Given the description of an element on the screen output the (x, y) to click on. 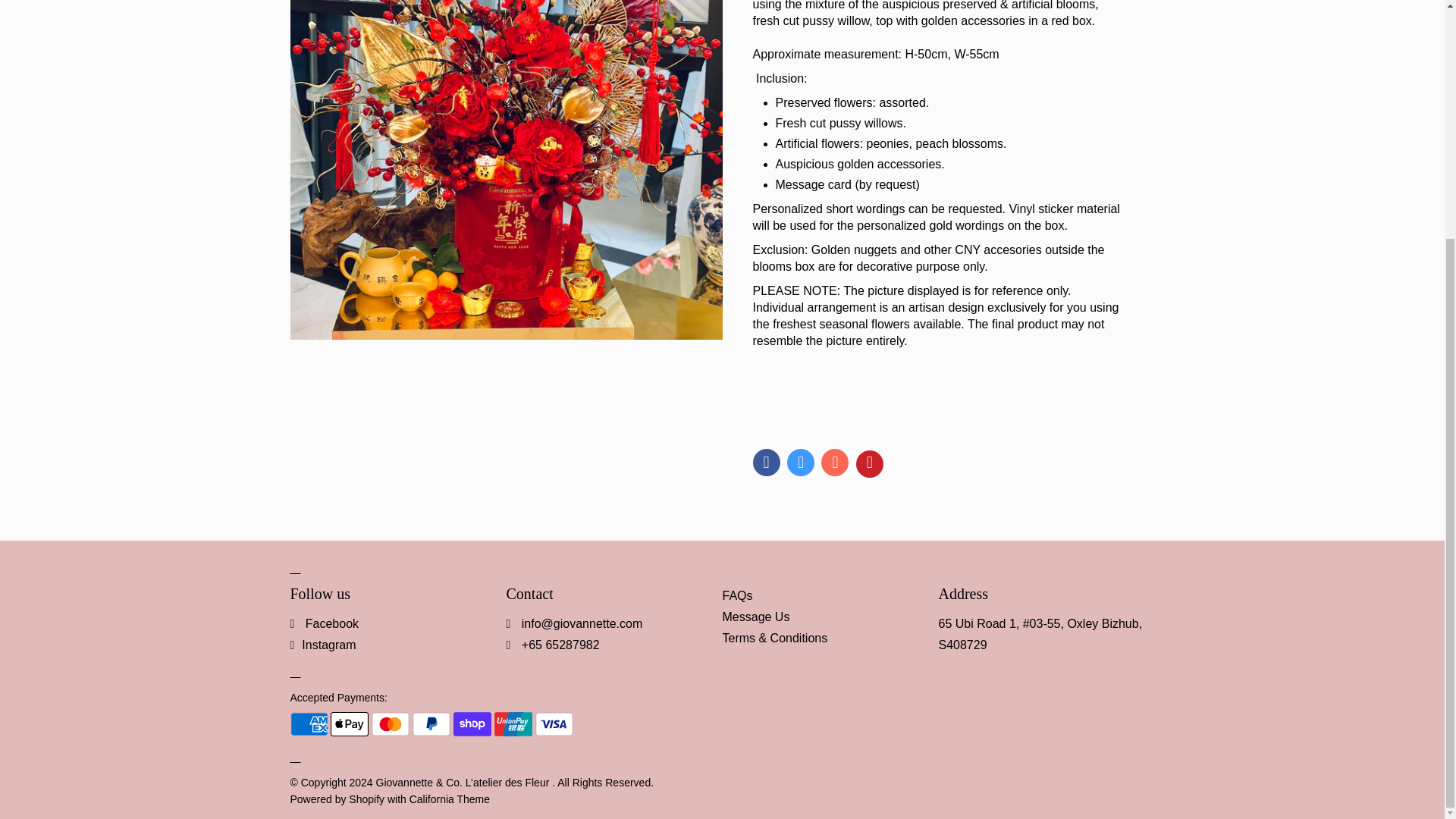
Share on Facebook (765, 461)
Share on Pinterest (869, 463)
Apple Pay (349, 723)
Shop Pay (472, 723)
Union Pay (513, 723)
Visa (554, 723)
PayPal (430, 723)
Share on Twitter (800, 461)
California Theme on Shopify (449, 799)
Mastercard (390, 723)
